Given the description of an element on the screen output the (x, y) to click on. 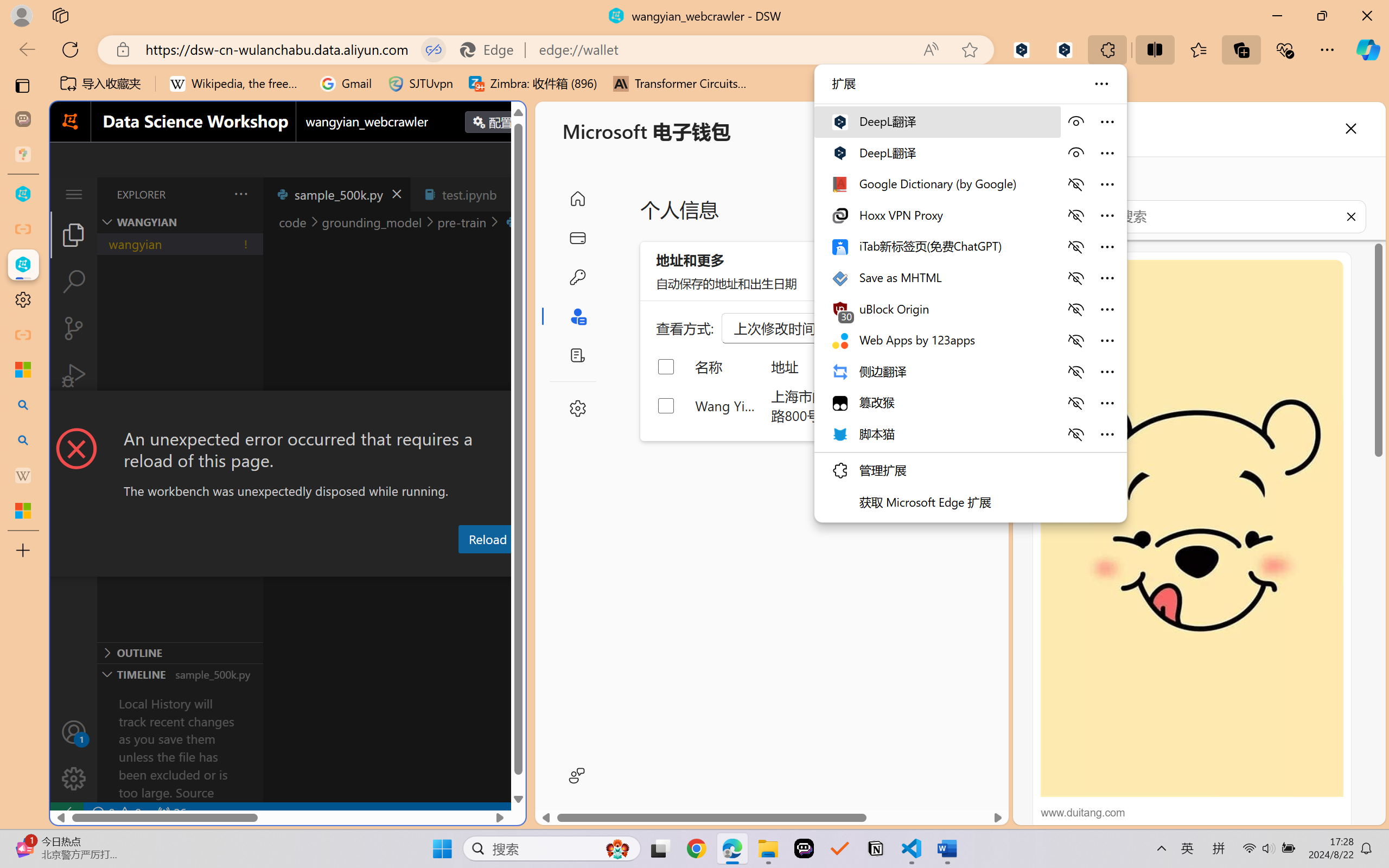
Problems (Ctrl+Shift+M) (308, 565)
Debug Console (Ctrl+Shift+Y) (463, 565)
Close (Ctrl+F4) (512, 194)
Edge (492, 49)
Run and Debug (Ctrl+Shift+D) (73, 375)
Views and More Actions... (240, 193)
